Given the description of an element on the screen output the (x, y) to click on. 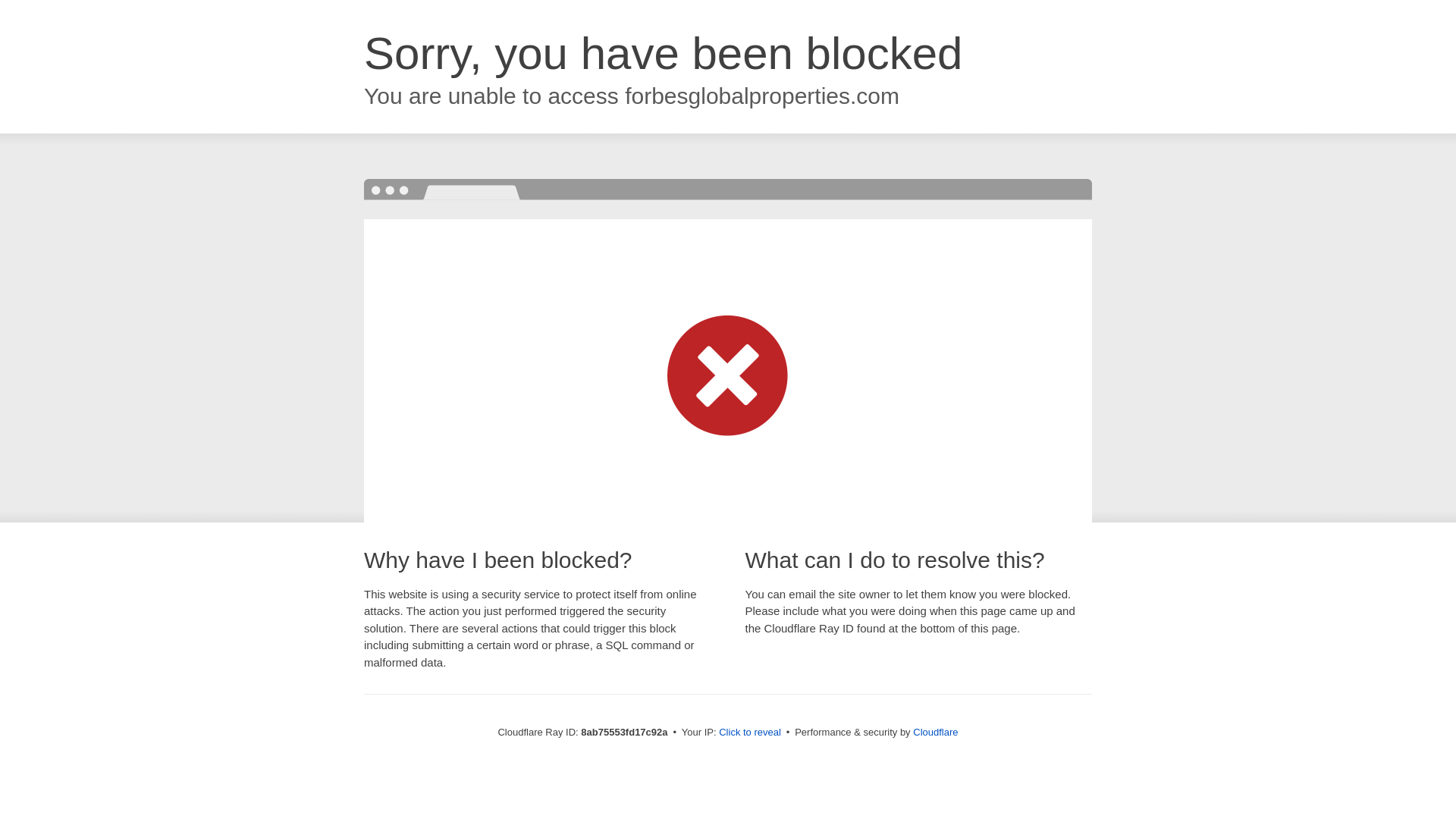
Cloudflare (935, 731)
Click to reveal (749, 732)
